Given the description of an element on the screen output the (x, y) to click on. 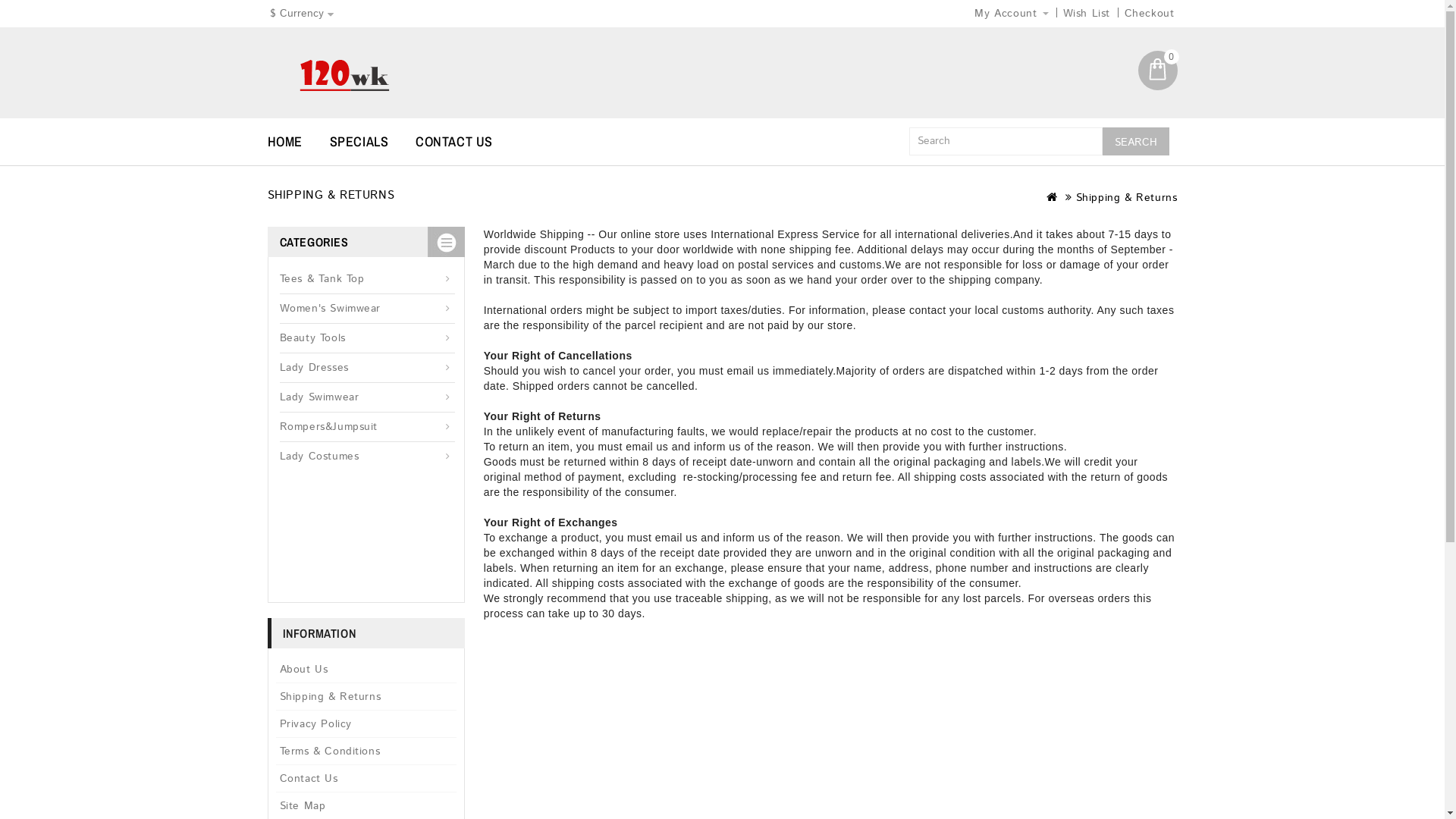
Contact Us Element type: text (366, 778)
Checkout Element type: text (1149, 13)
My Account Element type: text (1011, 13)
Lady Dresses Element type: text (366, 367)
About Us Element type: text (366, 669)
Shipping & Returns Element type: text (366, 696)
Beauty Tools Element type: text (366, 338)
Wish List Element type: text (1086, 13)
HOME Element type: text (295, 141)
Rompers&Jumpsuit Element type: text (366, 427)
$ Currency  Element type: text (300, 13)
Shipping & Returns Element type: text (1126, 197)
SEARCH Element type: text (1135, 141)
Privacy Policy Element type: text (366, 723)
Tees & Tank Top Element type: text (366, 279)
CONTACT US Element type: text (465, 141)
Lady Costumes Element type: text (366, 456)
120wk.com Element type: hover (343, 74)
Women'S Swimwear Element type: text (366, 308)
0 Element type: text (1156, 70)
Lady Swimwear Element type: text (366, 397)
SPECIALS Element type: text (370, 141)
Terms & Conditions Element type: text (366, 751)
